Given the description of an element on the screen output the (x, y) to click on. 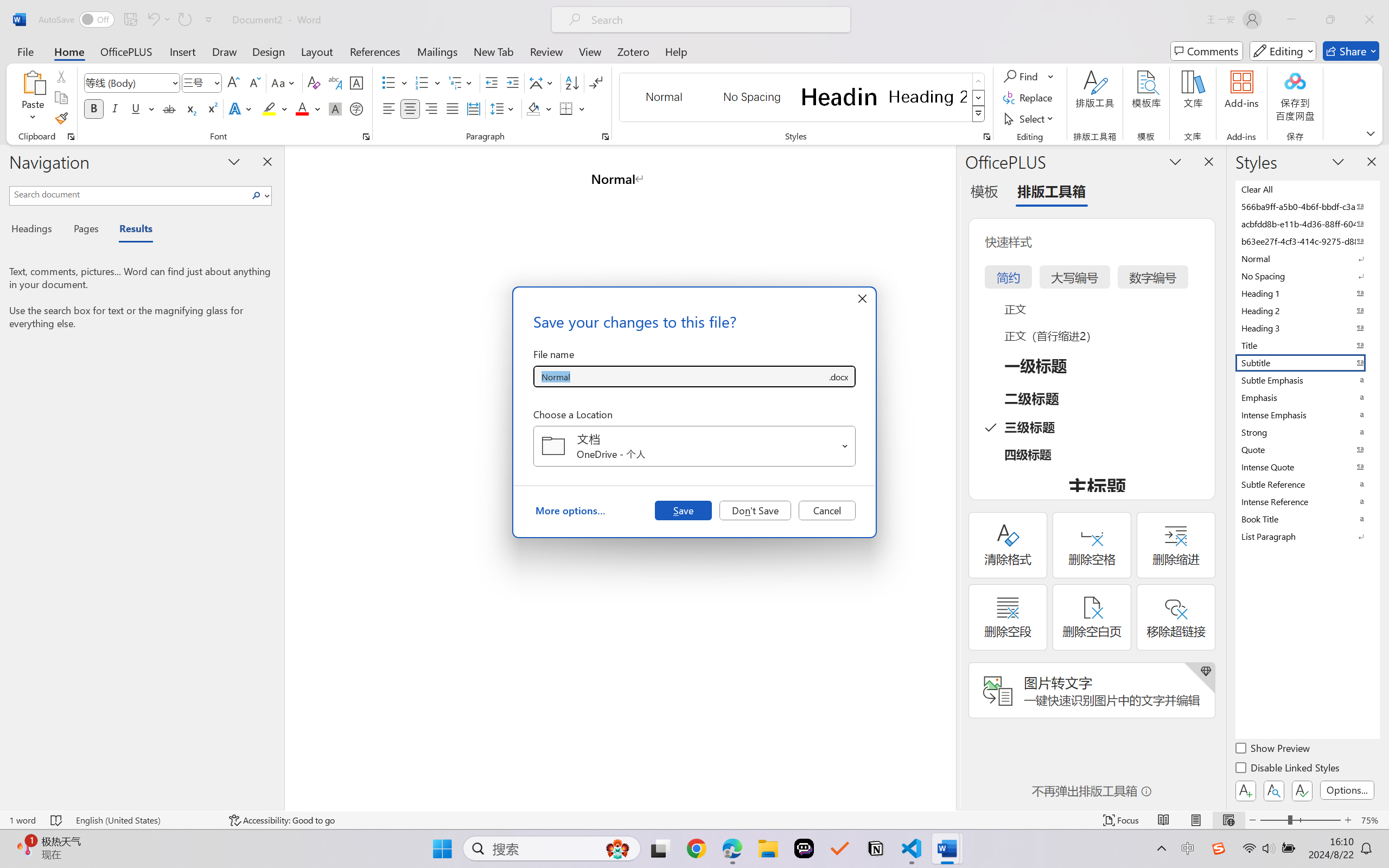
Text Effects and Typography (241, 108)
Replace... (1029, 97)
Heading 2 (927, 96)
Don't Save (755, 509)
Intense Emphasis (1306, 414)
Bold (94, 108)
Zoom In (1348, 819)
Show Preview (1273, 749)
Class: NetUIScrollBar (948, 477)
Share (1350, 51)
